Given the description of an element on the screen output the (x, y) to click on. 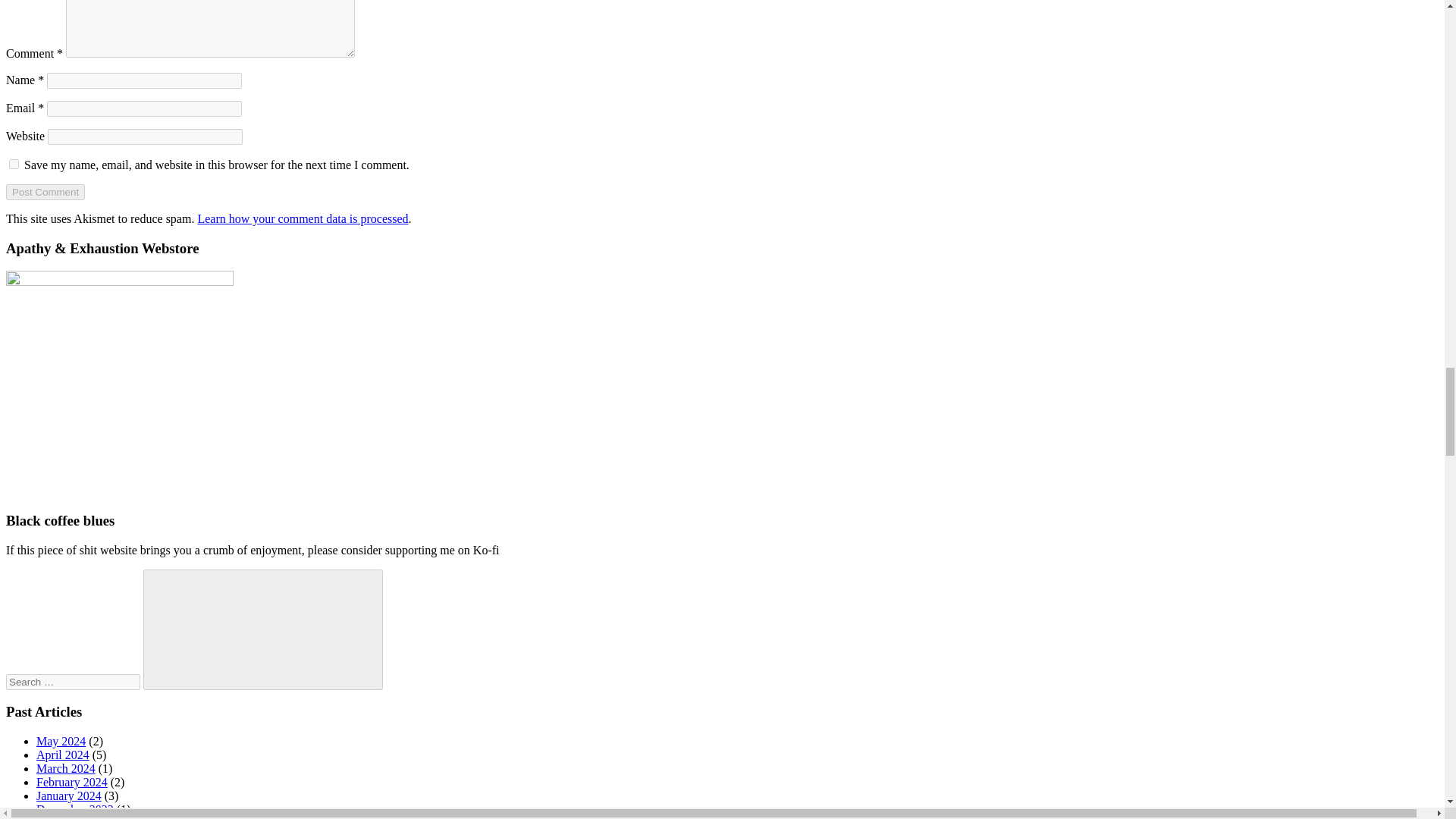
March 2024 (66, 768)
December 2023 (74, 809)
Post Comment (44, 191)
January 2024 (68, 795)
February 2024 (71, 781)
Post Comment (44, 191)
Search for: (72, 682)
Search (262, 629)
November 2023 (75, 817)
Learn how your comment data is processed (301, 218)
May 2024 (60, 740)
April 2024 (62, 754)
yes (13, 163)
